Given the description of an element on the screen output the (x, y) to click on. 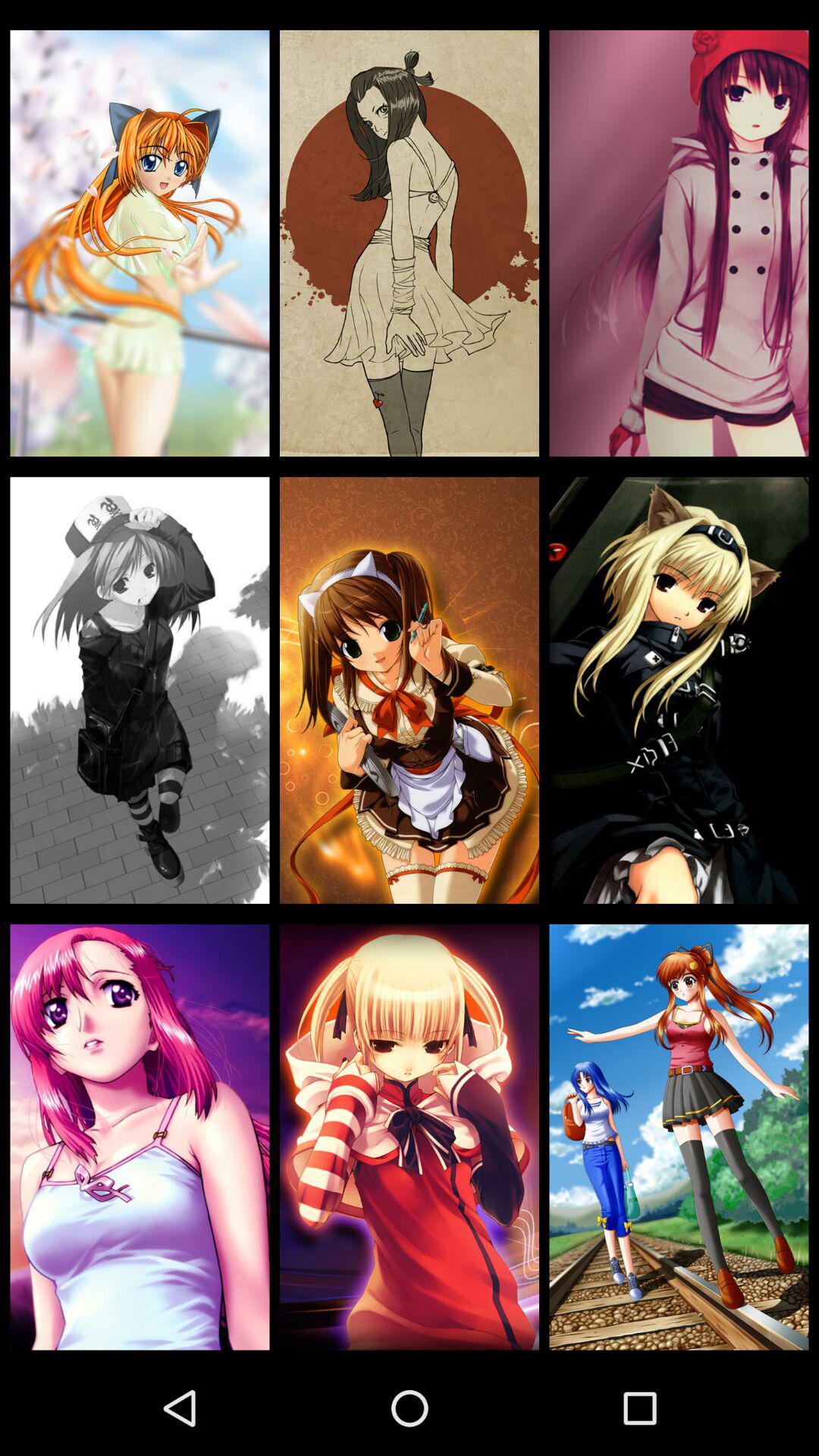
open this image (139, 690)
